Given the description of an element on the screen output the (x, y) to click on. 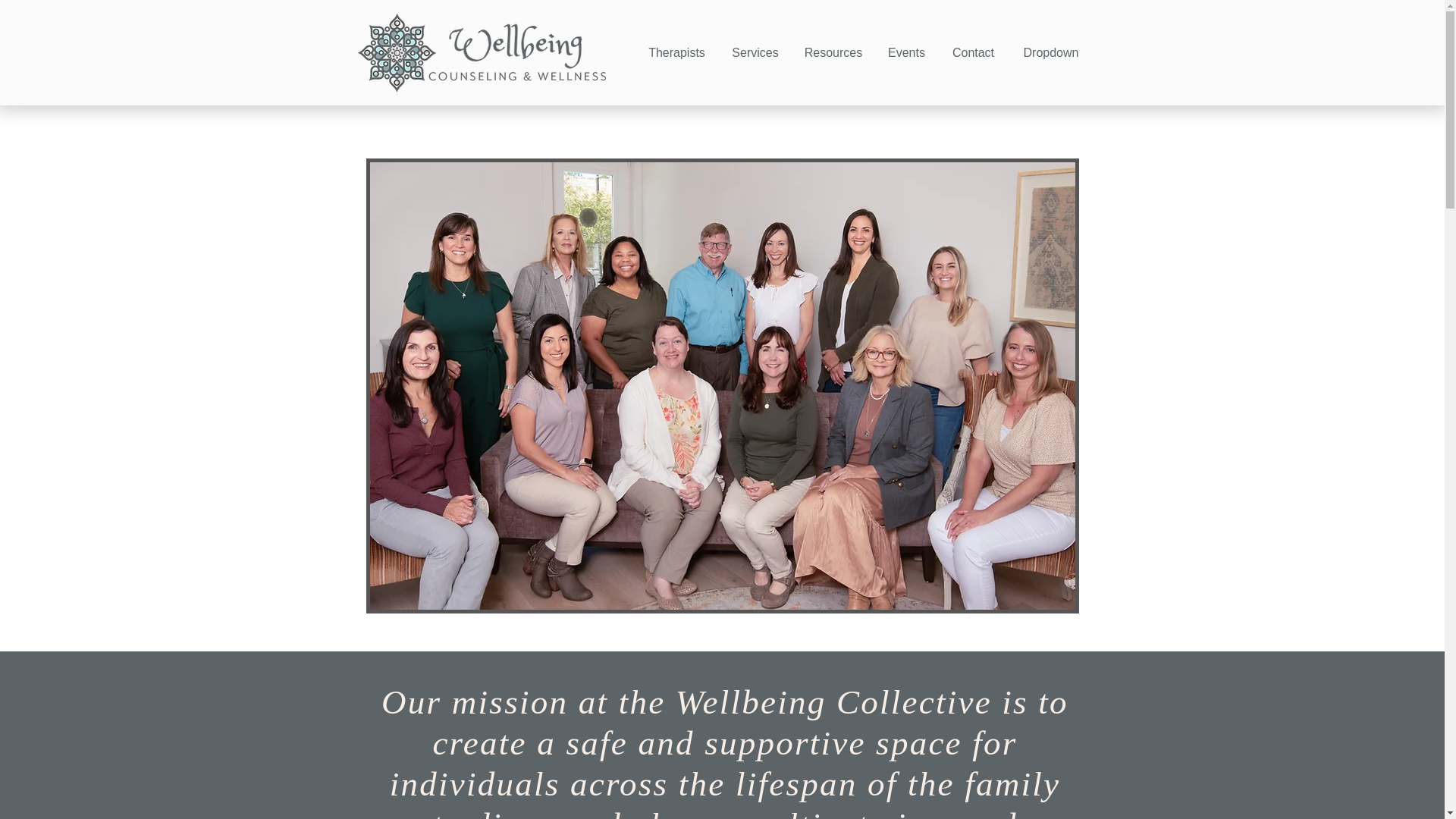
Events (906, 53)
Resources (834, 53)
Contact (973, 53)
Services (754, 53)
